Given the description of an element on the screen output the (x, y) to click on. 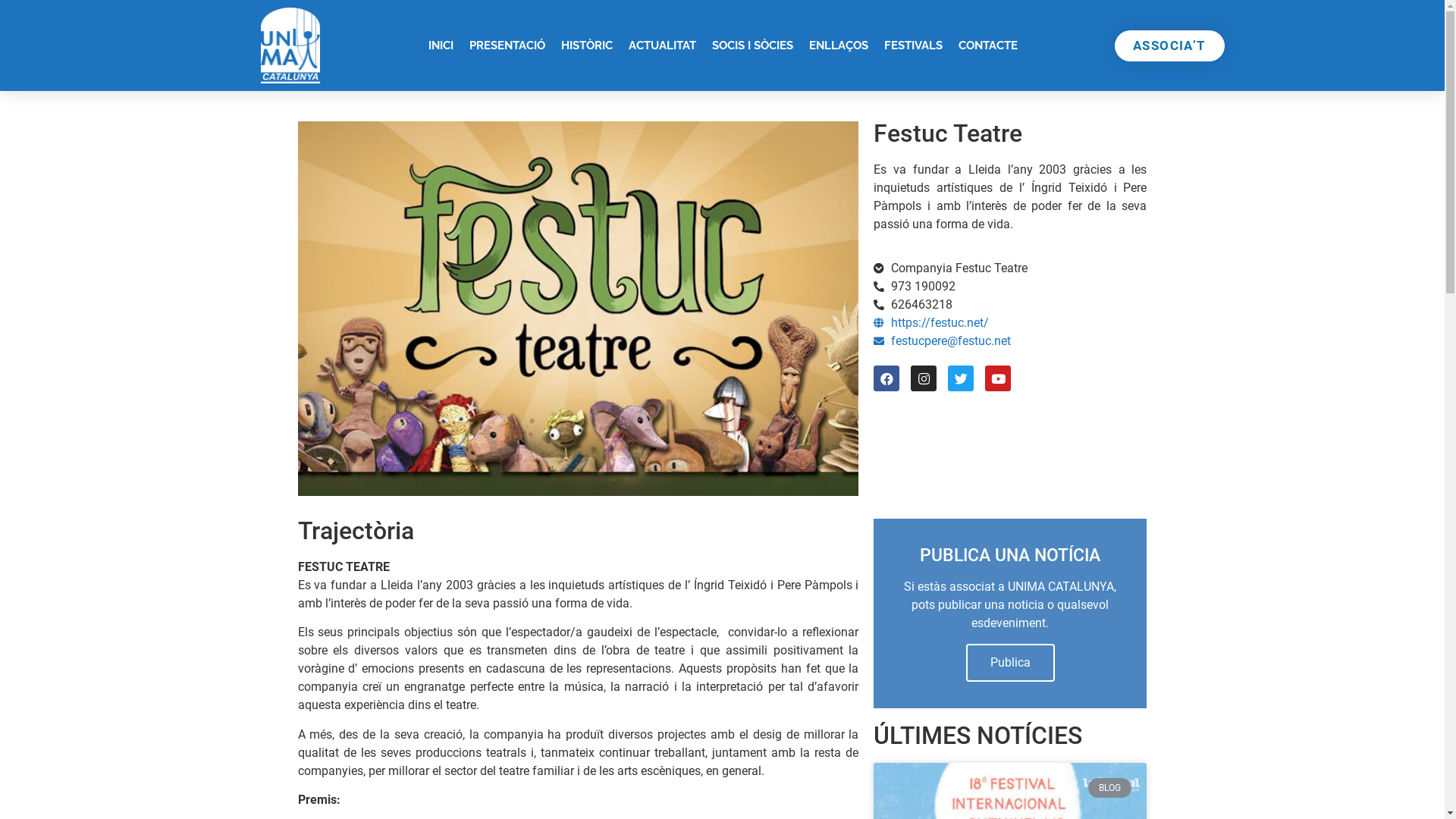
INICI Element type: text (440, 45)
cropped-logo_unima_catalunya.png Element type: hover (290, 45)
CONTACTE Element type: text (987, 45)
festucpere@festuc.net Element type: text (1009, 341)
Publica Element type: text (1010, 662)
https://festuc.net/ Element type: text (1009, 322)
ACTUALITAT Element type: text (662, 45)
FESTIVALS Element type: text (912, 45)
